Given the description of an element on the screen output the (x, y) to click on. 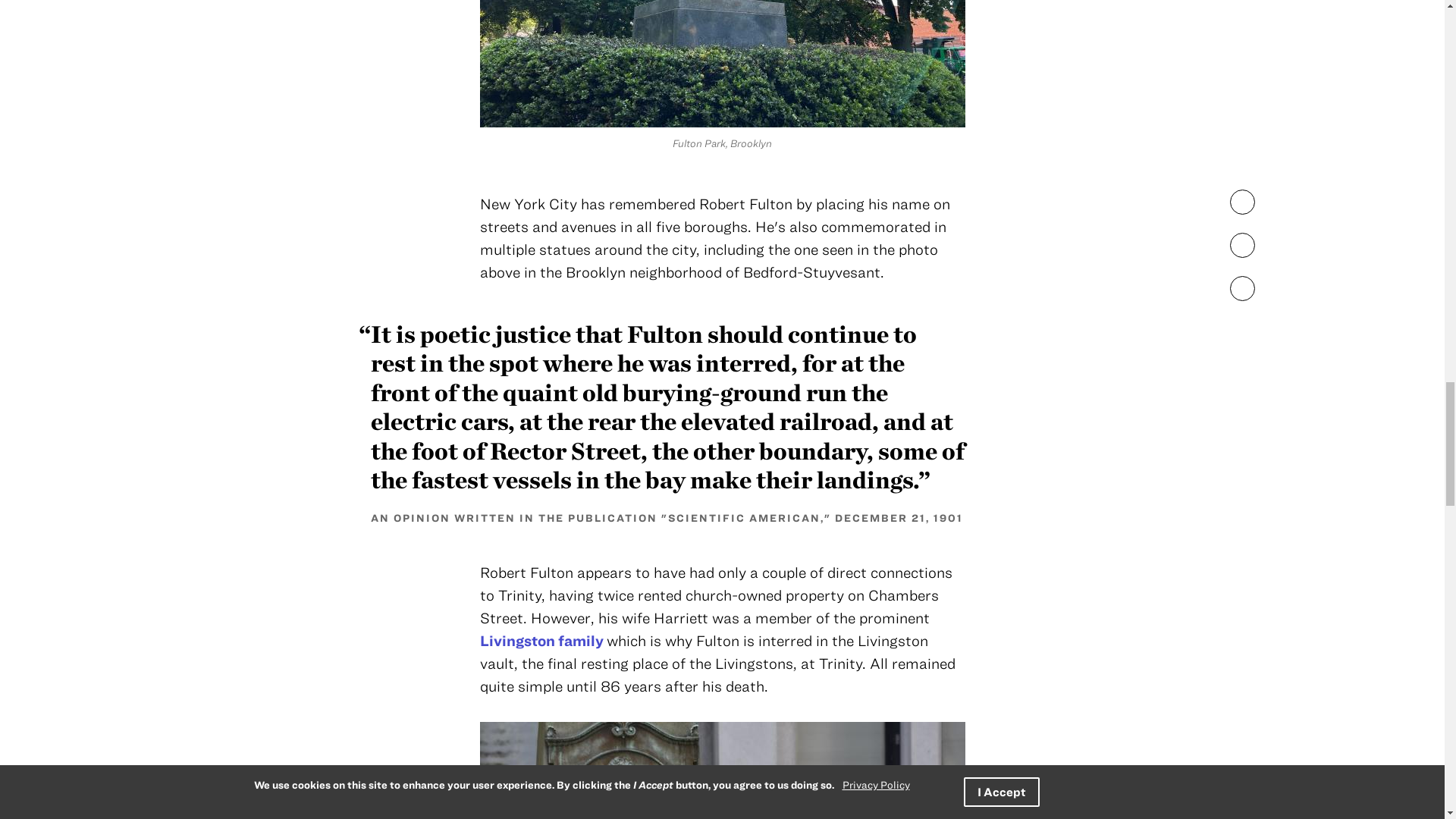
Livingston family (542, 640)
